Given the description of an element on the screen output the (x, y) to click on. 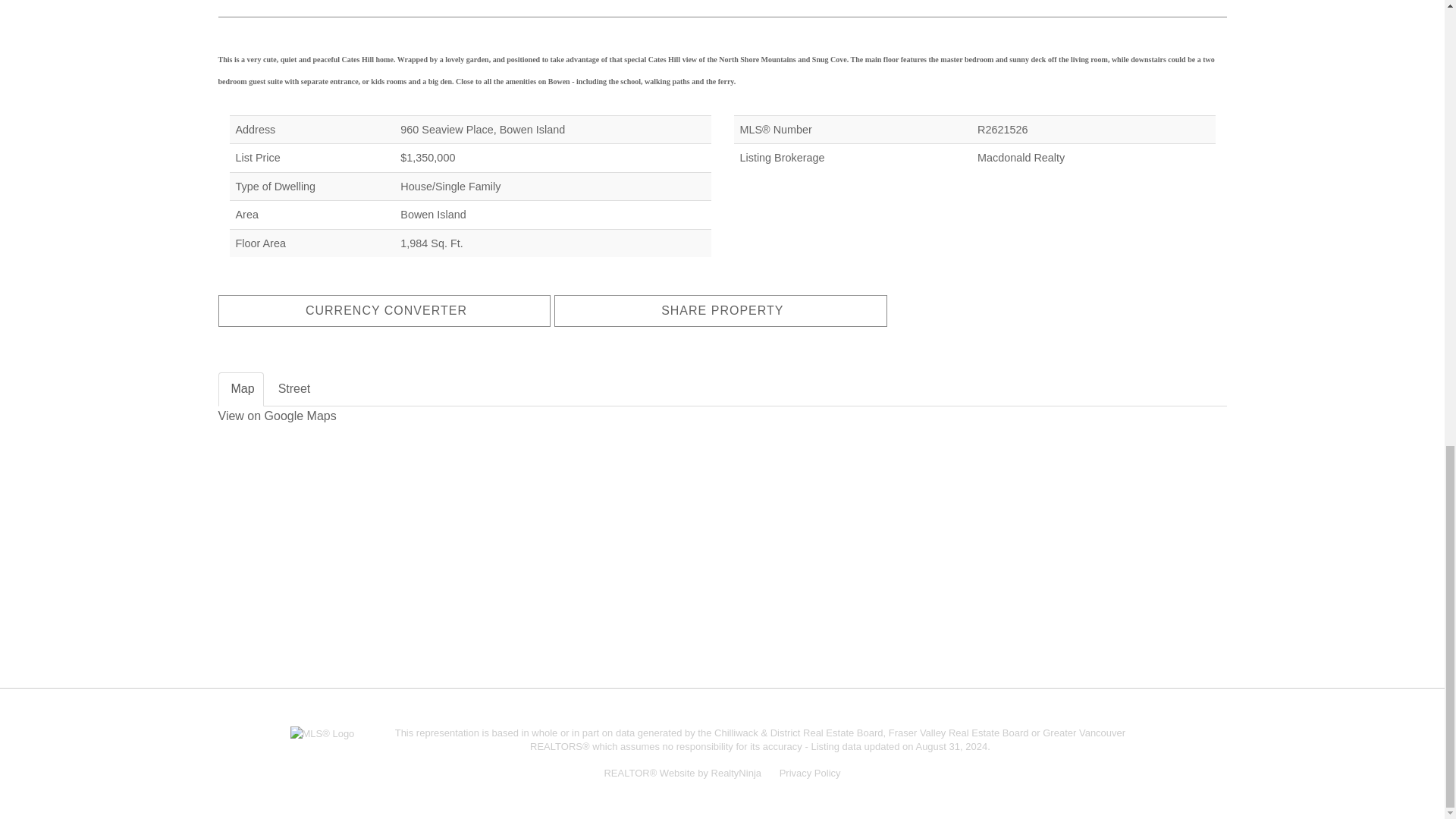
Map (240, 389)
Street (292, 389)
View on Google Maps (277, 415)
CURRENCY CONVERTER (384, 310)
SHARE PROPERTY (720, 310)
Privacy Policy (809, 772)
